Given the description of an element on the screen output the (x, y) to click on. 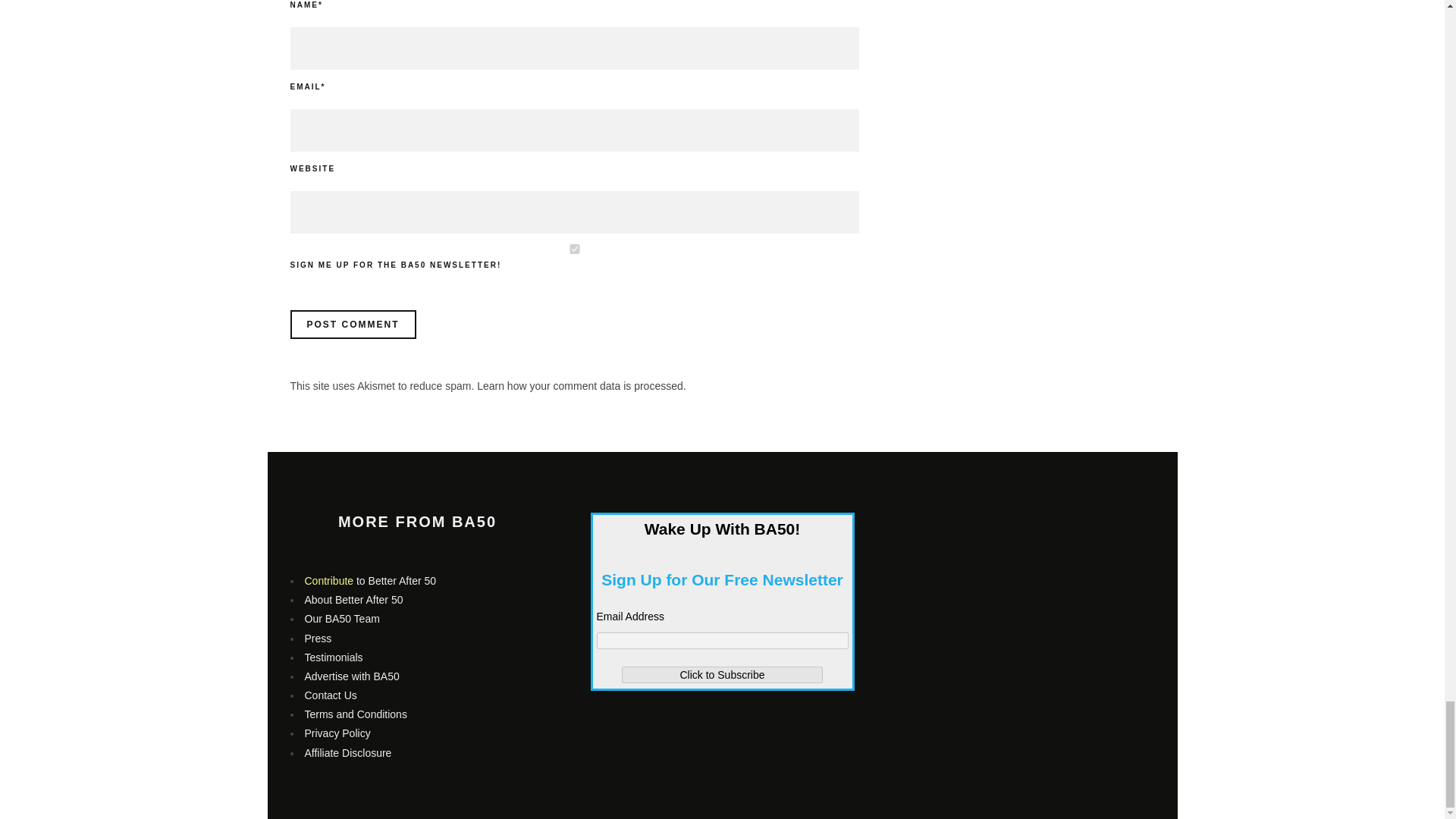
Click to Subscribe (722, 674)
1 (574, 248)
Post Comment (351, 324)
